Given the description of an element on the screen output the (x, y) to click on. 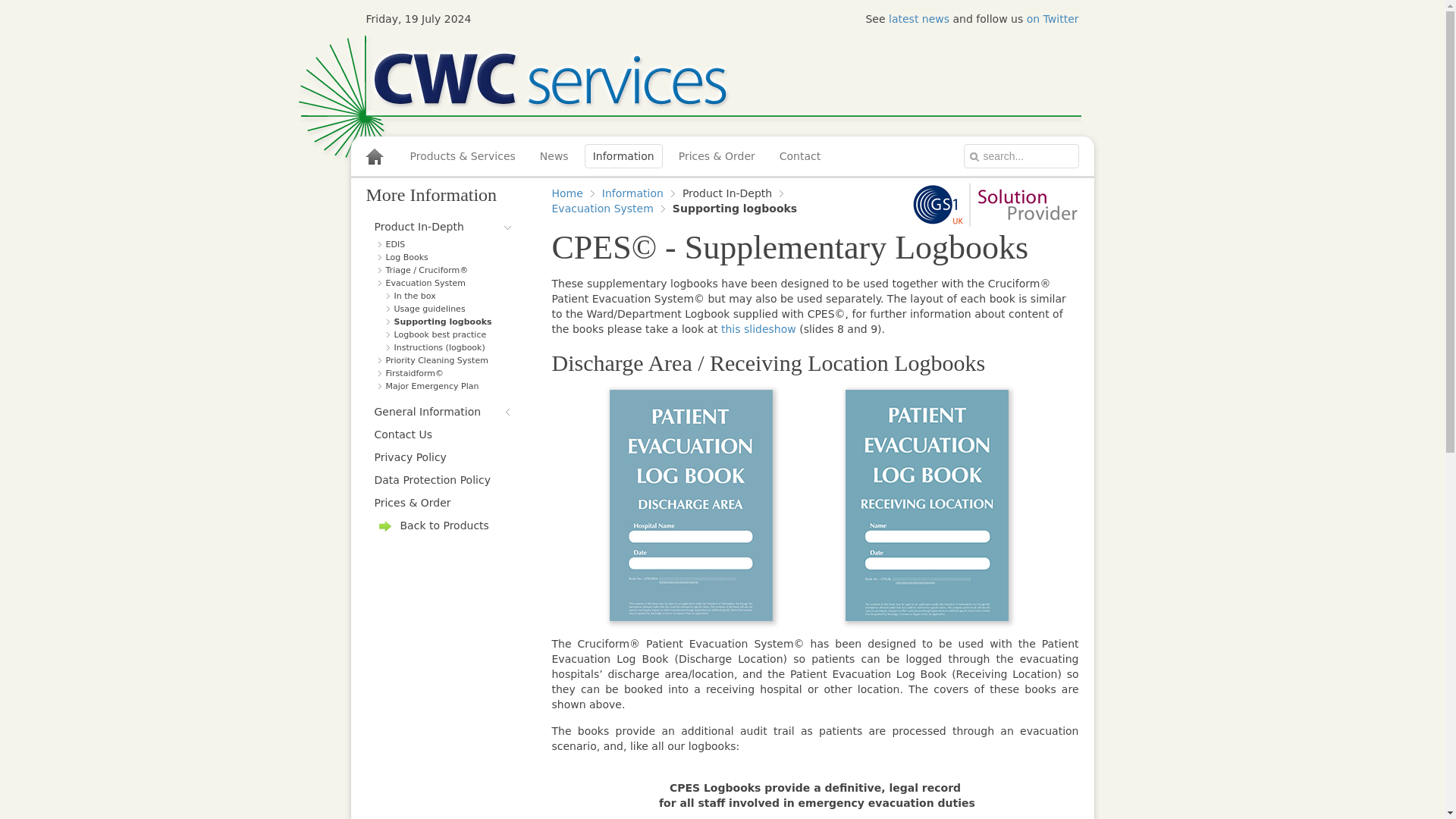
Contact (799, 156)
Supporting logbooks (446, 321)
Major Emergency Plan (443, 386)
Log Books (443, 256)
EDIS (443, 244)
Information (638, 192)
Usage guidelines (446, 308)
Logbook best practice (446, 334)
Contact Us (443, 434)
Privacy Policy (443, 456)
this slideshow (758, 328)
Home (572, 192)
Reset (3, 2)
Priority Cleaning System (443, 359)
on Twitter (1052, 19)
